Given the description of an element on the screen output the (x, y) to click on. 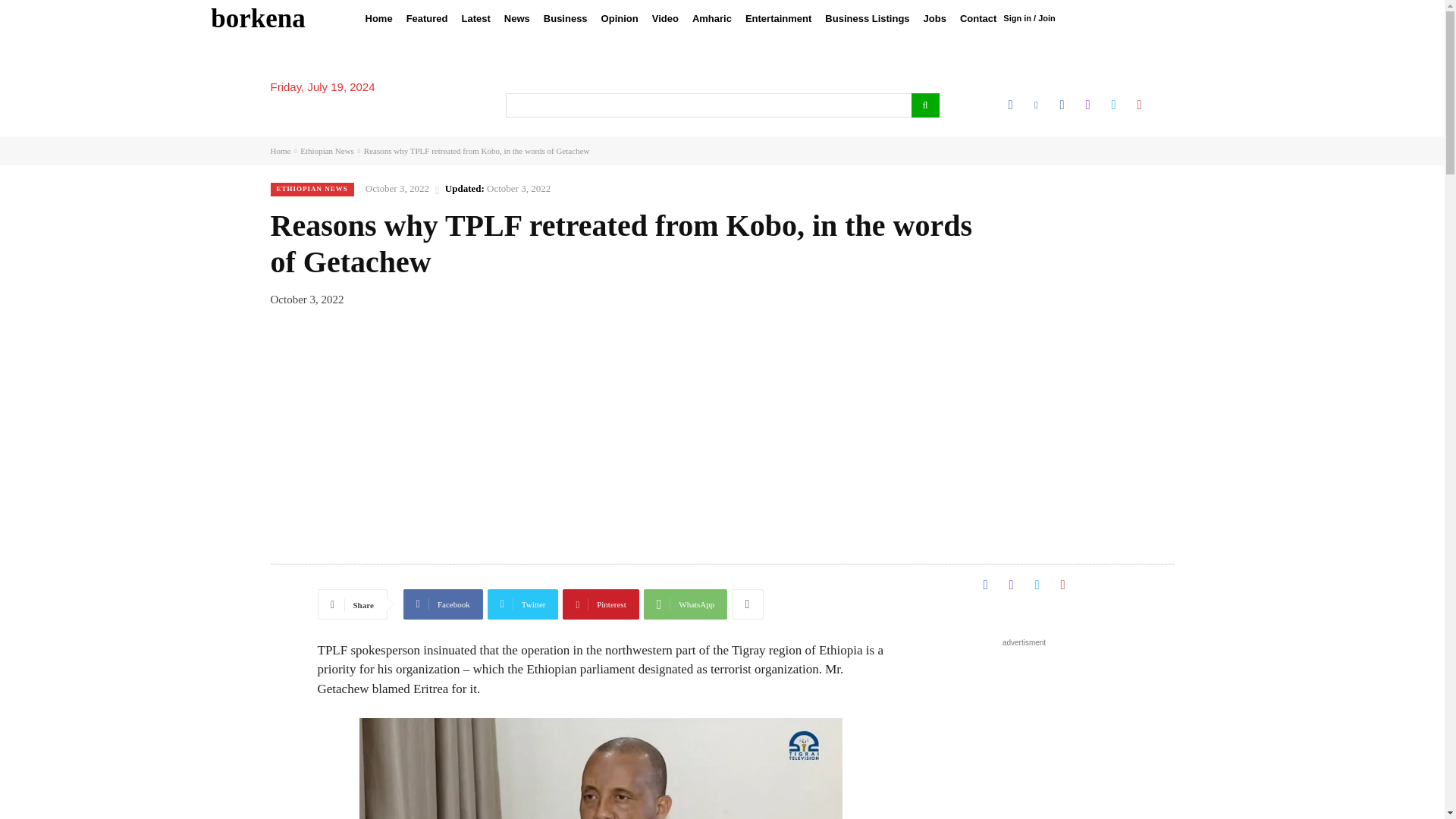
Business (565, 18)
Ethiopian News and Opinion  (257, 18)
News (517, 18)
Amharic (711, 18)
Contact (978, 18)
Video (665, 18)
Featured (426, 18)
Jobs (935, 18)
Home (378, 18)
Latest (475, 18)
borkena (257, 18)
Entertainment (778, 18)
Business Listings (866, 18)
Opinion (619, 18)
